Given the description of an element on the screen output the (x, y) to click on. 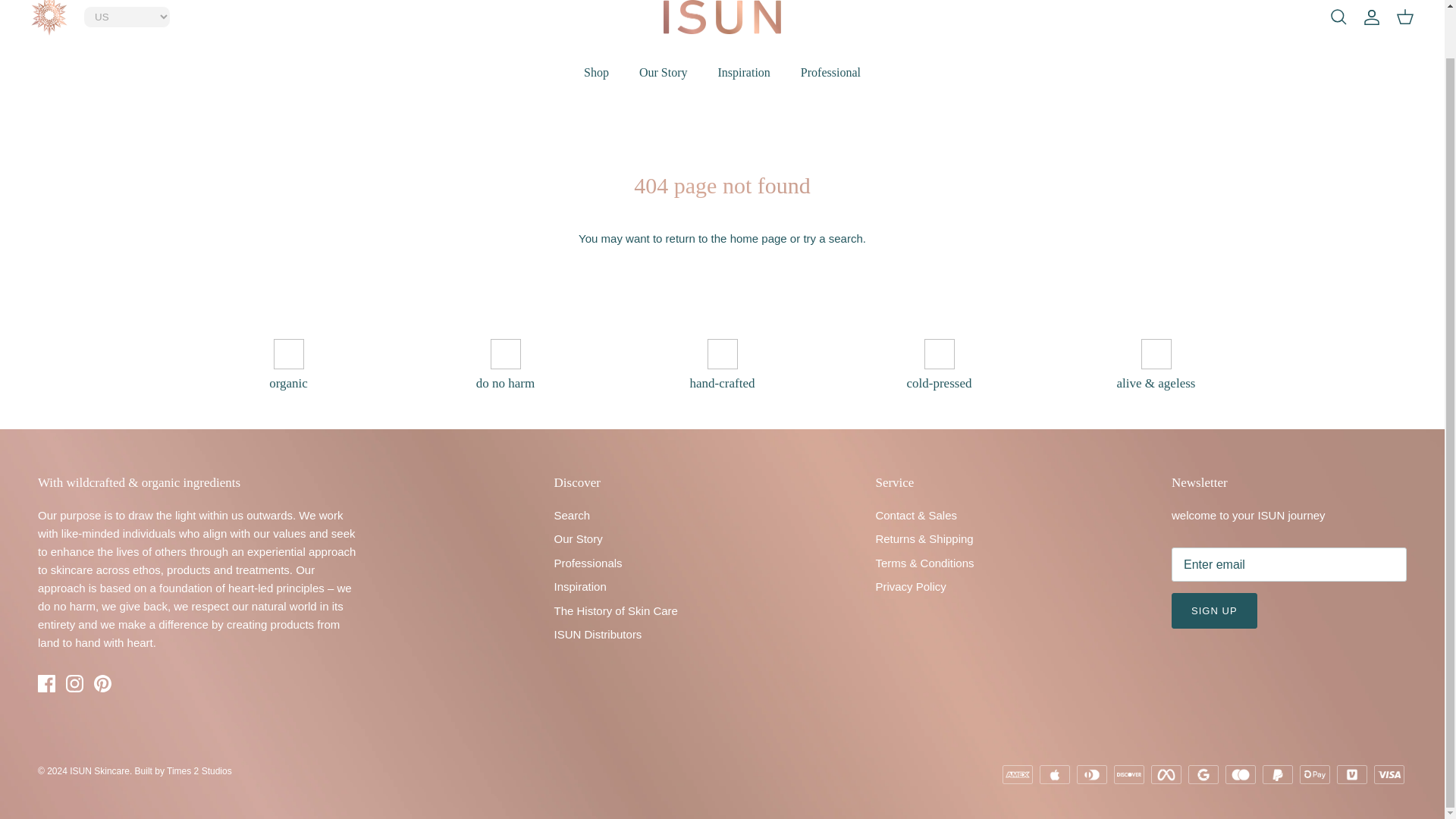
Facebook (46, 683)
Account (1371, 17)
Pinterest (103, 683)
Search (1338, 17)
Instagram (73, 683)
Shop (596, 72)
Cart (1404, 17)
ISUN Skincare (721, 17)
